Given the description of an element on the screen output the (x, y) to click on. 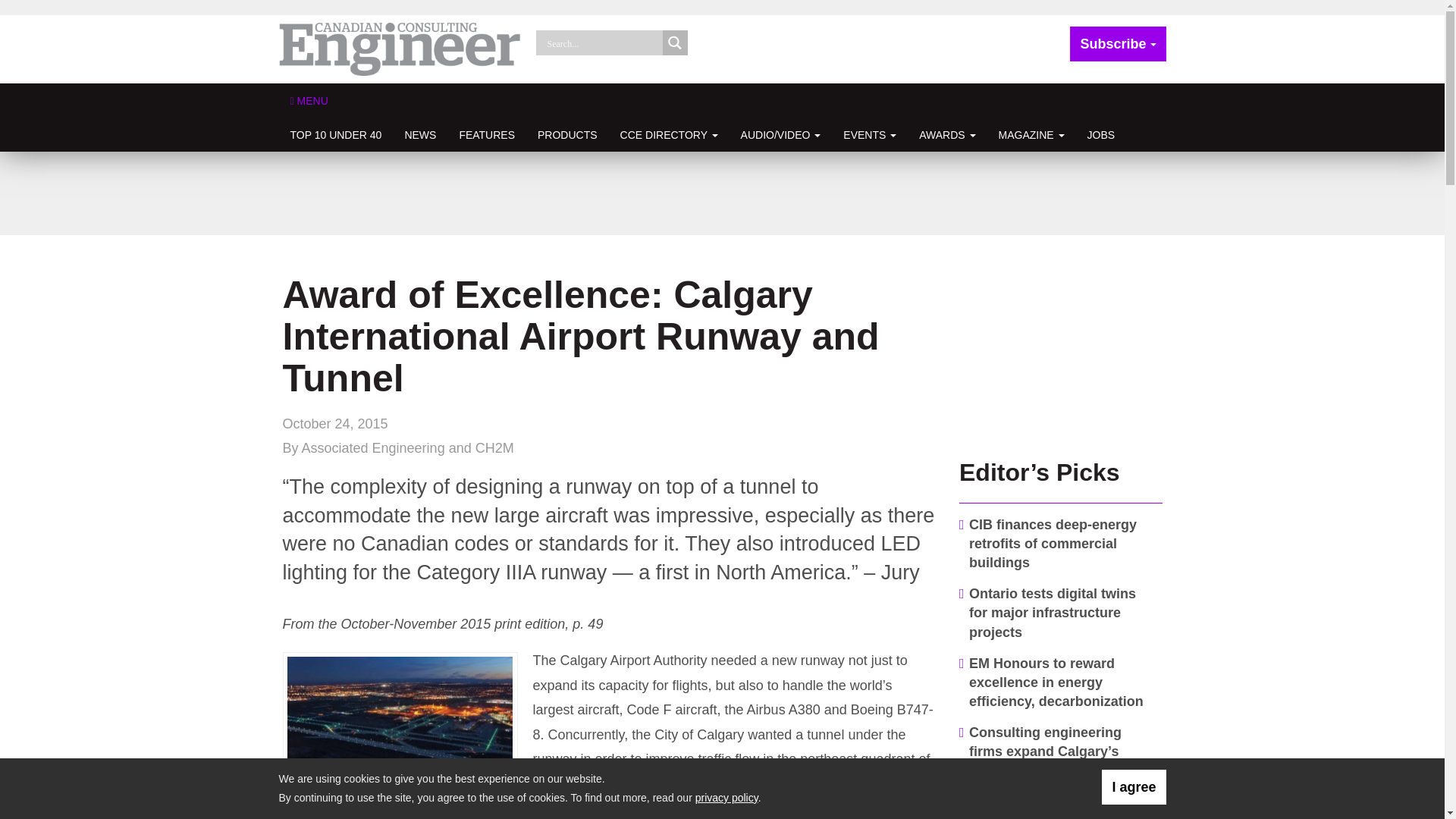
3rd party ad content (721, 192)
EVENTS (869, 134)
TOP 10 UNDER 40 (336, 134)
MAGAZINE (1031, 134)
3rd party ad content (1060, 348)
MENU (309, 100)
Canadian Consulting Engineer (400, 48)
Subscribe (1118, 43)
AWARDS (947, 134)
Click to show site navigation (309, 100)
CCE DIRECTORY (668, 134)
JOBS (1100, 134)
NEWS (419, 134)
FEATURES (485, 134)
PRODUCTS (566, 134)
